Given the description of an element on the screen output the (x, y) to click on. 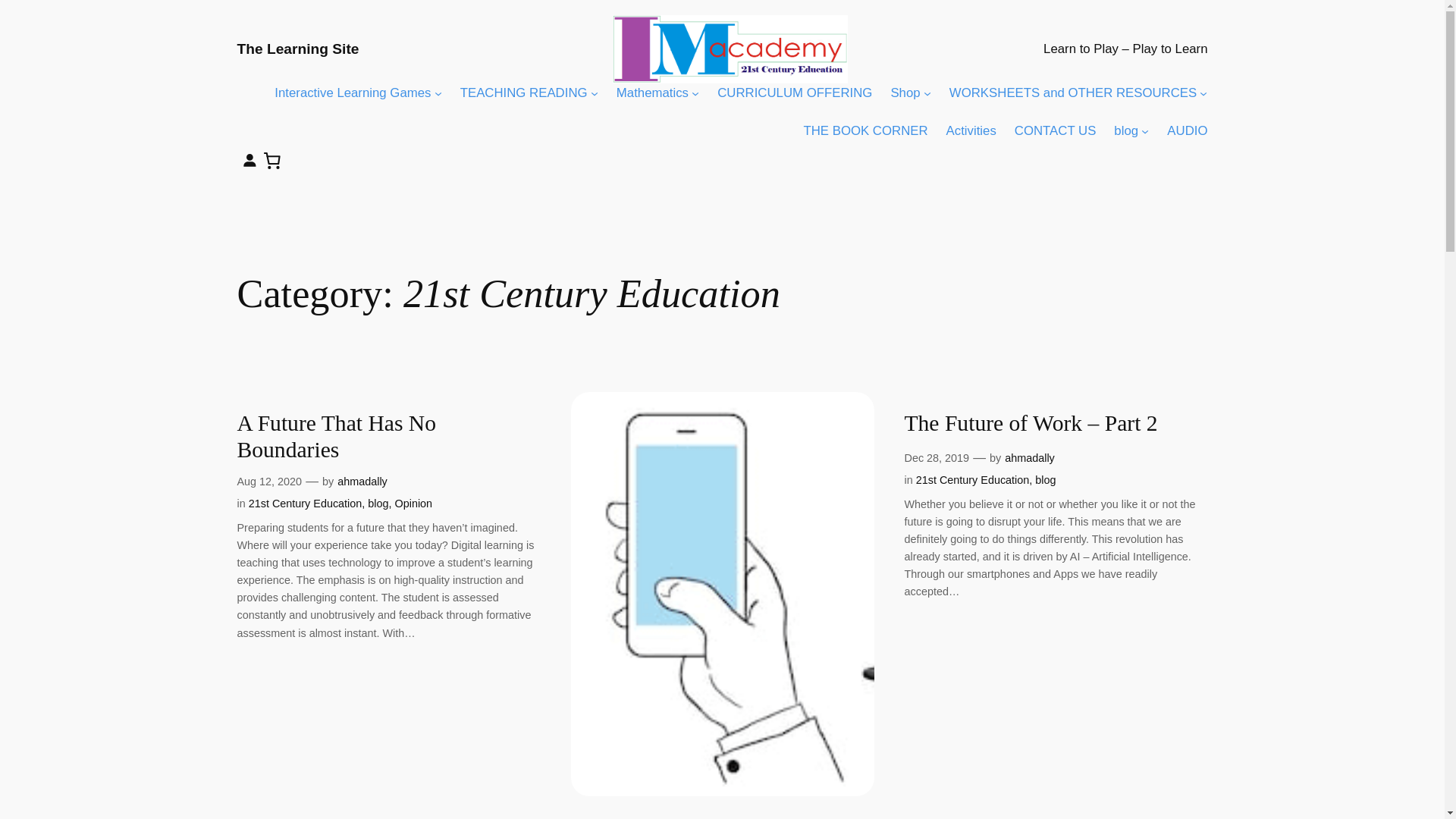
CONTACT US (1055, 130)
Shop (904, 93)
THE BOOK CORNER (865, 130)
WORKSHEETS and OTHER RESOURCES (1072, 93)
TEACHING READING (524, 93)
blog (1125, 130)
Interactive Learning Games (352, 93)
Activities (970, 130)
The Learning Site (296, 48)
Mathematics (651, 93)
